Given the description of an element on the screen output the (x, y) to click on. 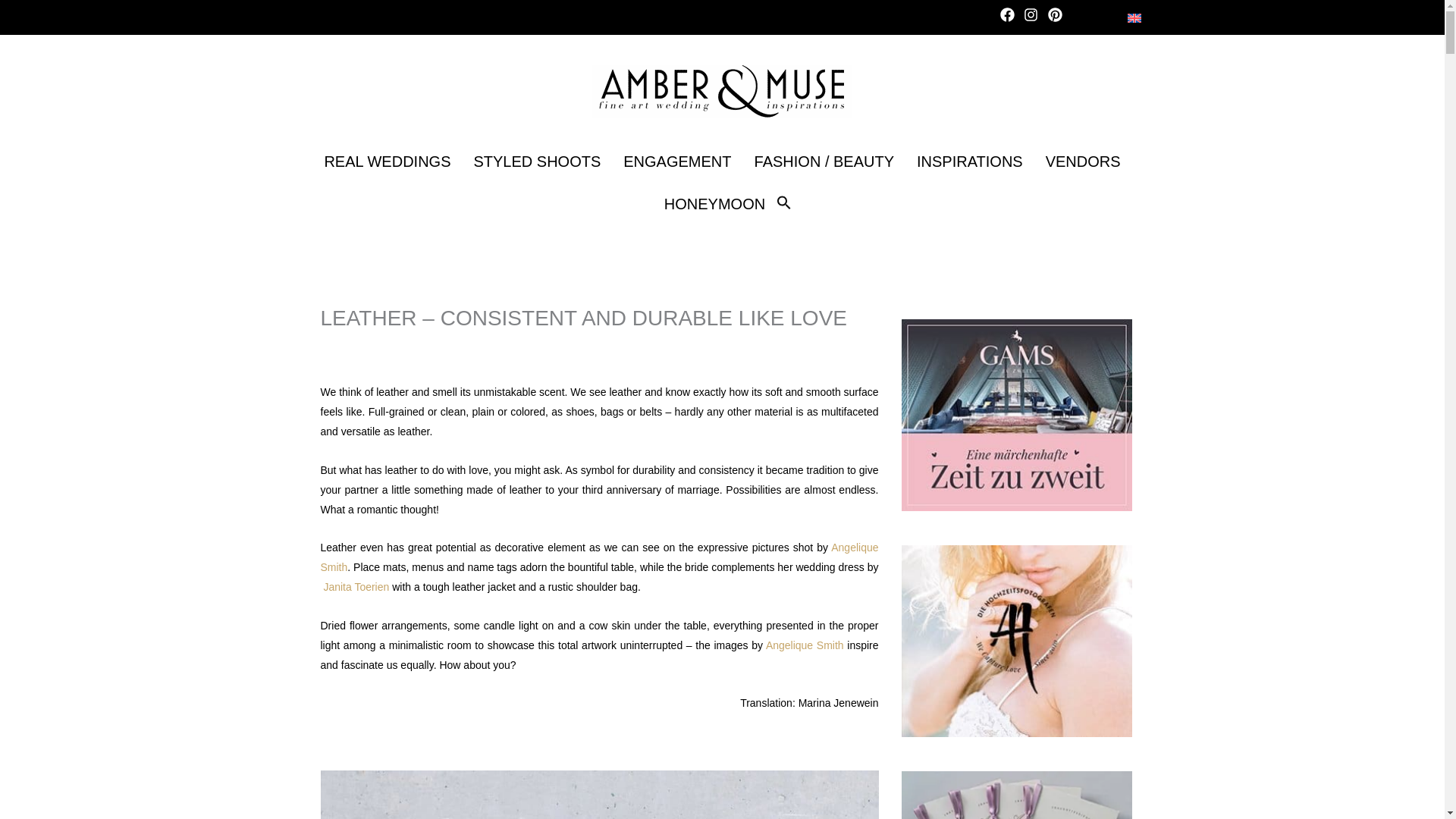
INSPIRATIONS (969, 161)
ENGAGEMENT (676, 161)
Angelique Smith (598, 557)
REAL WEDDINGS (387, 161)
HONEYMOON (714, 203)
Angelique Smith (804, 645)
Pinterest (1058, 17)
VENDORS (1082, 161)
Instagram (1033, 17)
Janita Toerien (355, 586)
STYLED SHOOTS (536, 161)
Facebook (1010, 17)
